Given the description of an element on the screen output the (x, y) to click on. 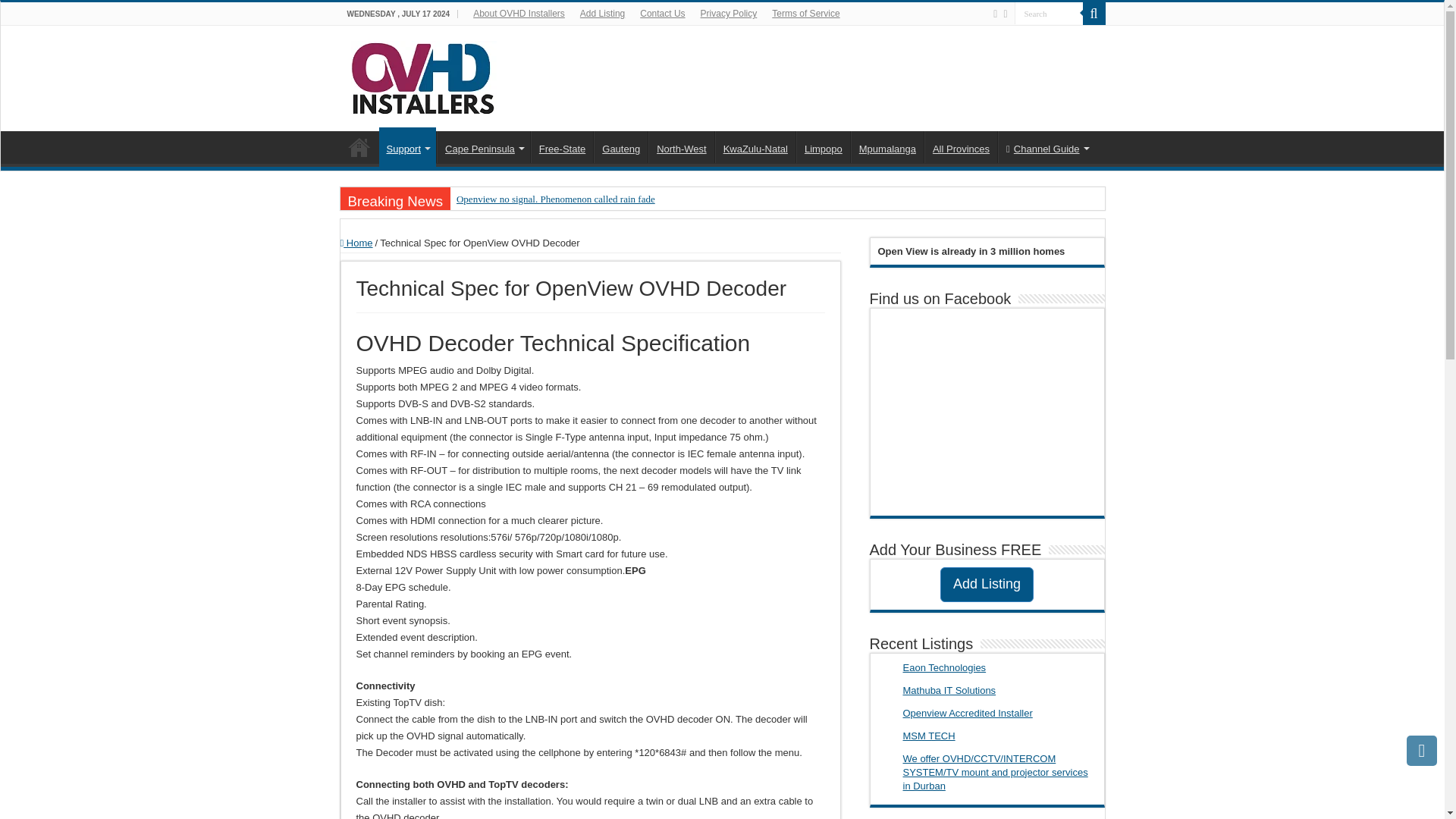
Free-State (561, 146)
Cape Peninsula (482, 146)
Welcome to the New Faster Open View OVHD Installers (358, 146)
Search (1048, 13)
Openview no signal. Phenomenon called rain fade (596, 199)
Add Listing (601, 13)
Rss (994, 13)
KwaZulu-Natal (754, 146)
Privacy Policy (729, 13)
Channel Guide (1045, 146)
Mpumalanga (886, 146)
Openview no signal. Phenomenon called rain fade (596, 199)
Limpopo (823, 146)
All Provinces (960, 146)
